Given the description of an element on the screen output the (x, y) to click on. 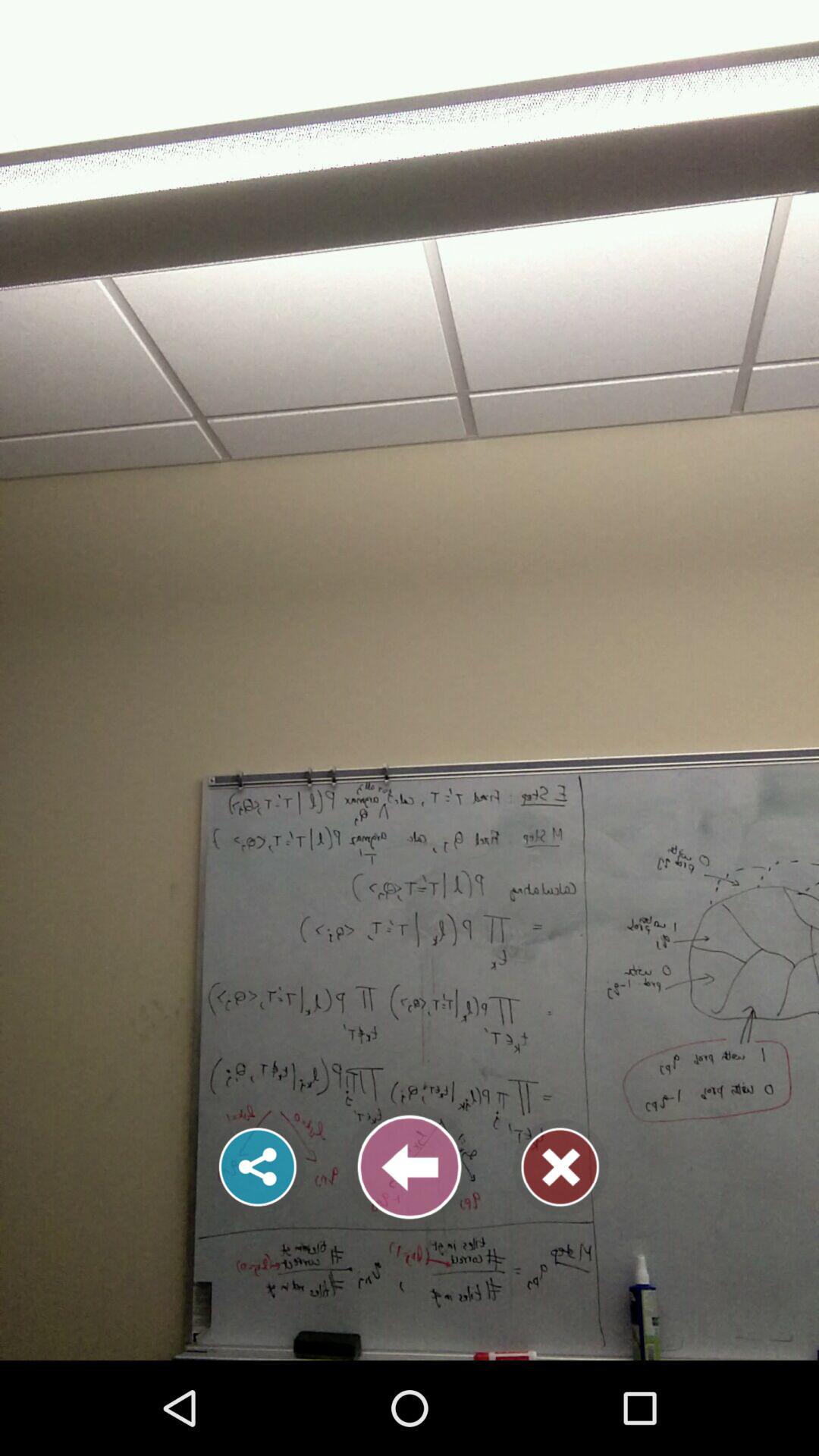
go to previous (409, 1166)
